Given the description of an element on the screen output the (x, y) to click on. 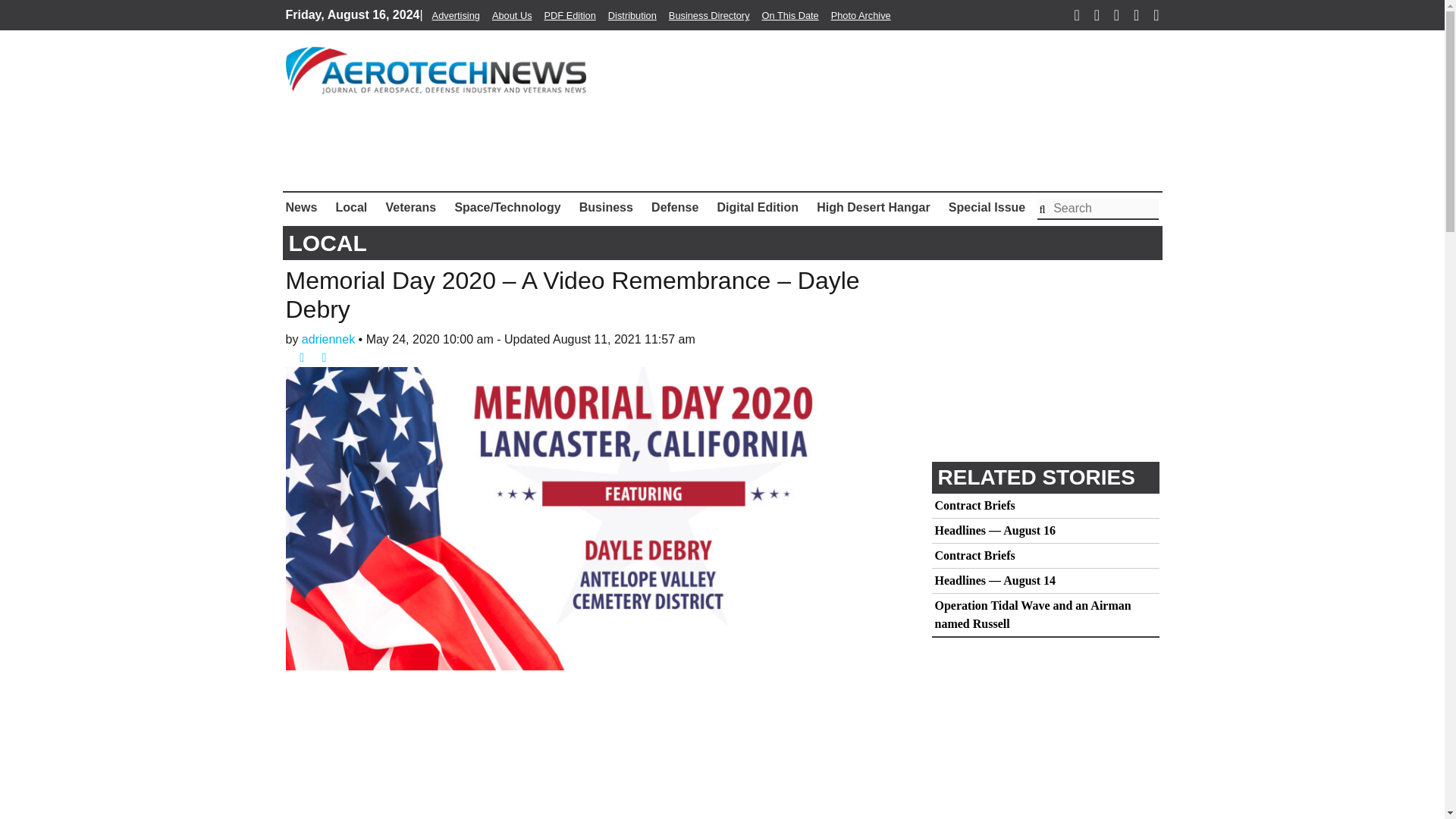
Local (350, 207)
Advertising (456, 15)
About Us (512, 15)
News (304, 207)
On This Date (789, 15)
Post to Facebook (296, 357)
Defense (674, 207)
Business (606, 207)
Special Issue (986, 207)
Local (350, 207)
